Given the description of an element on the screen output the (x, y) to click on. 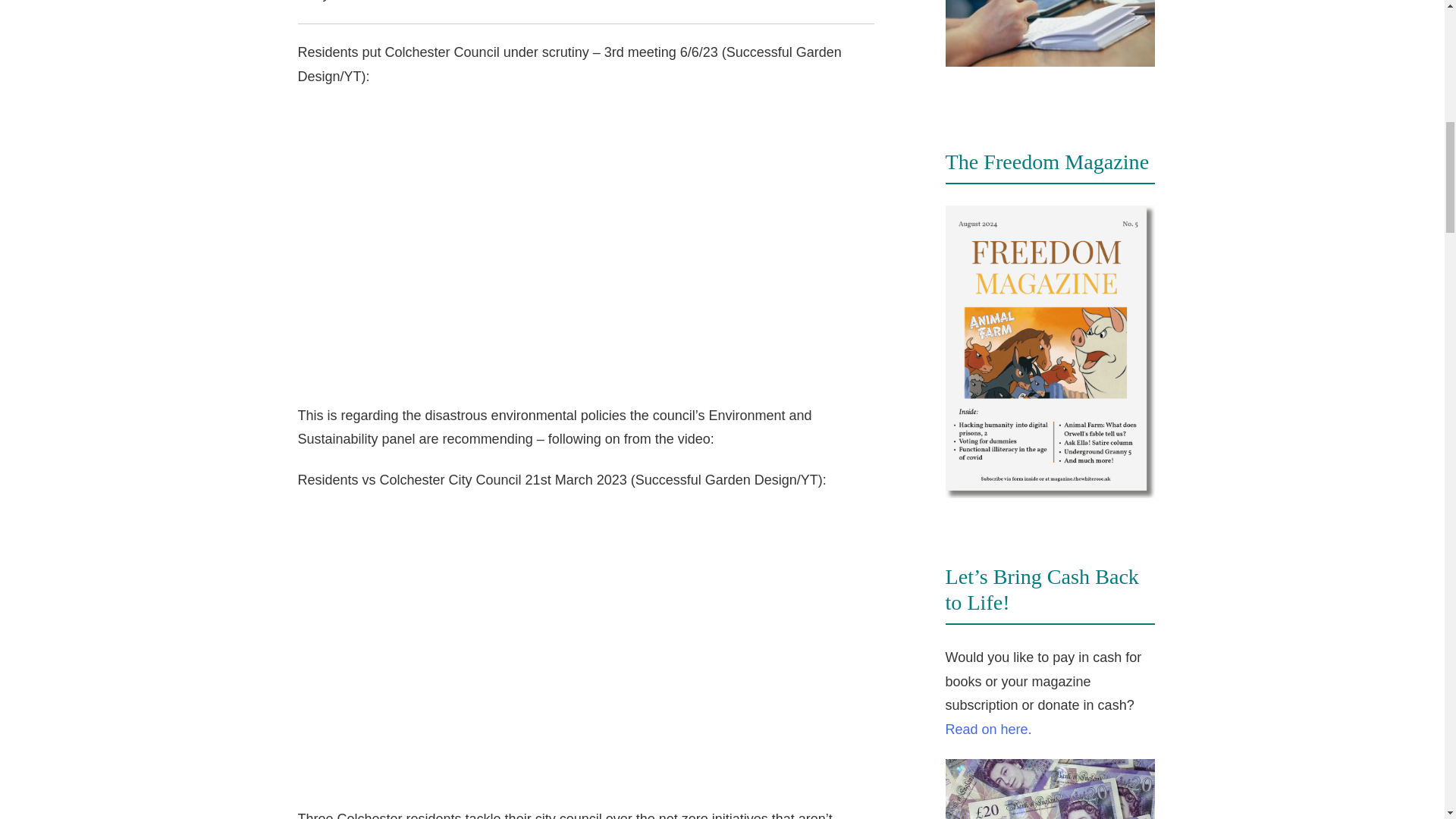
Residents vs Colchester City Council 21st March 2023 (540, 645)
Read on here. (987, 729)
